Given the description of an element on the screen output the (x, y) to click on. 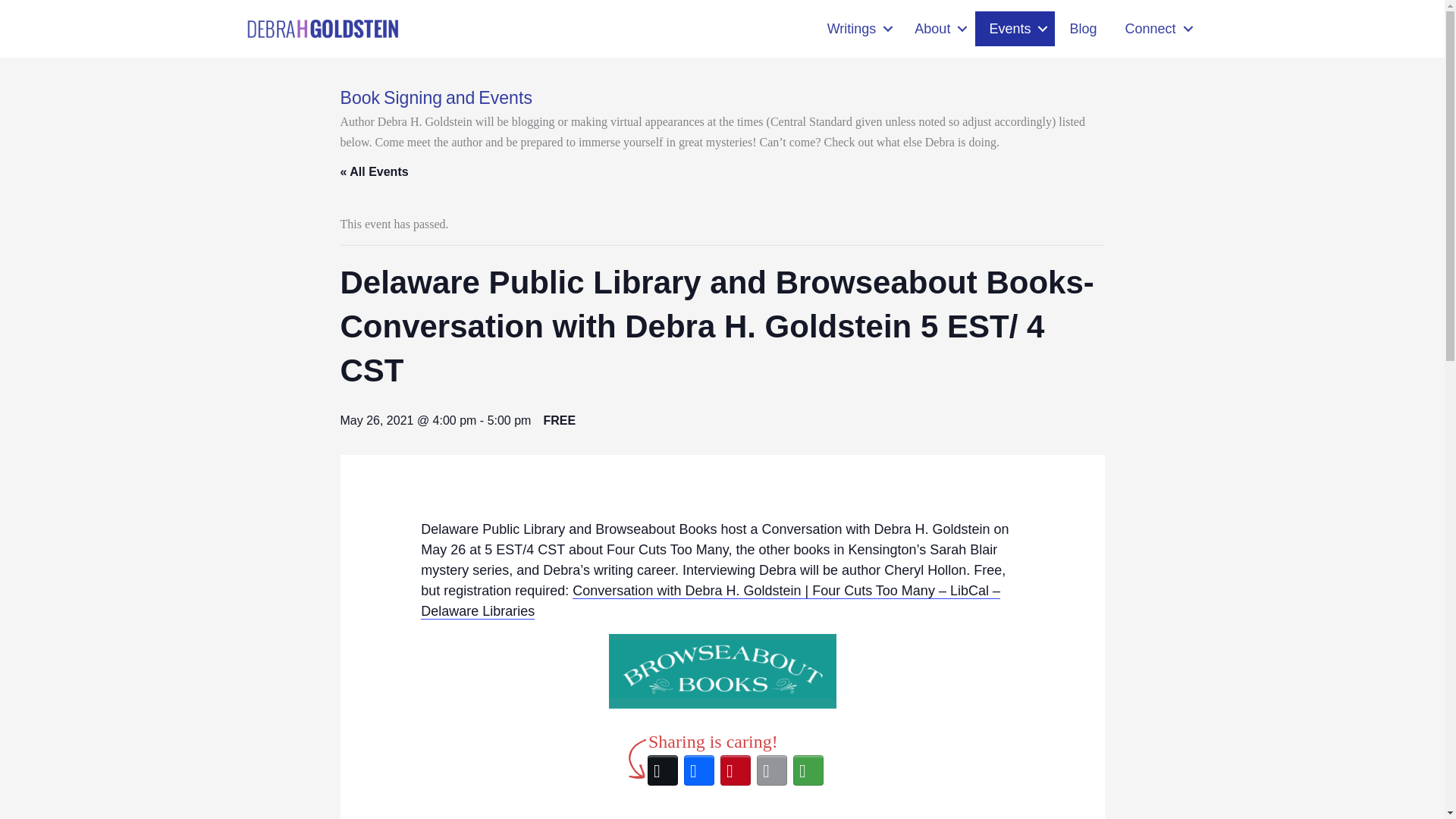
Facebook (699, 770)
Writings (857, 28)
Logo (321, 28)
Blog (1082, 28)
Connect (1154, 28)
Pinterest (735, 770)
Events (1014, 28)
About (937, 28)
Email This (772, 770)
More Options (808, 770)
